Given the description of an element on the screen output the (x, y) to click on. 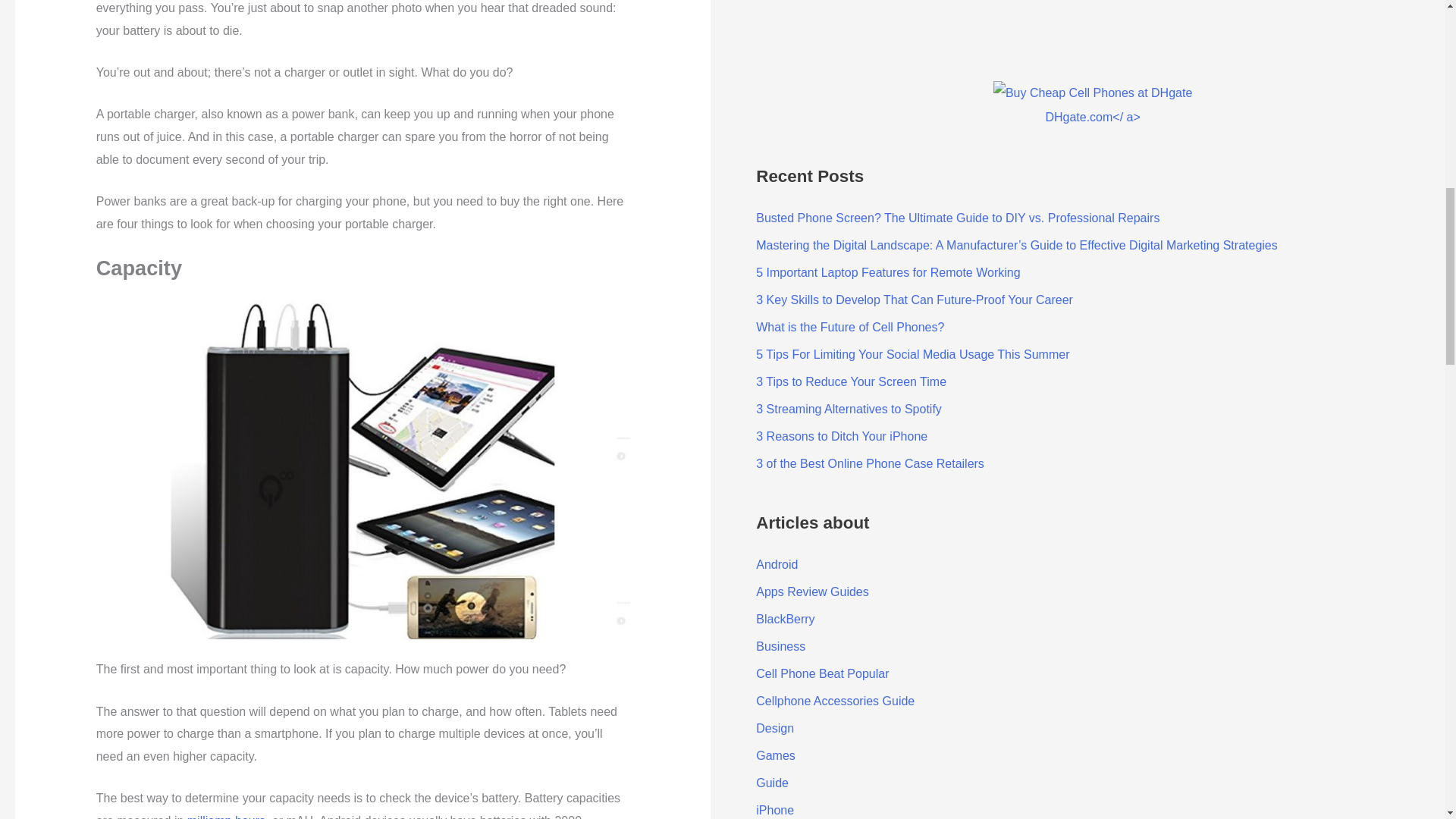
Advertisement (869, 23)
